Given the description of an element on the screen output the (x, y) to click on. 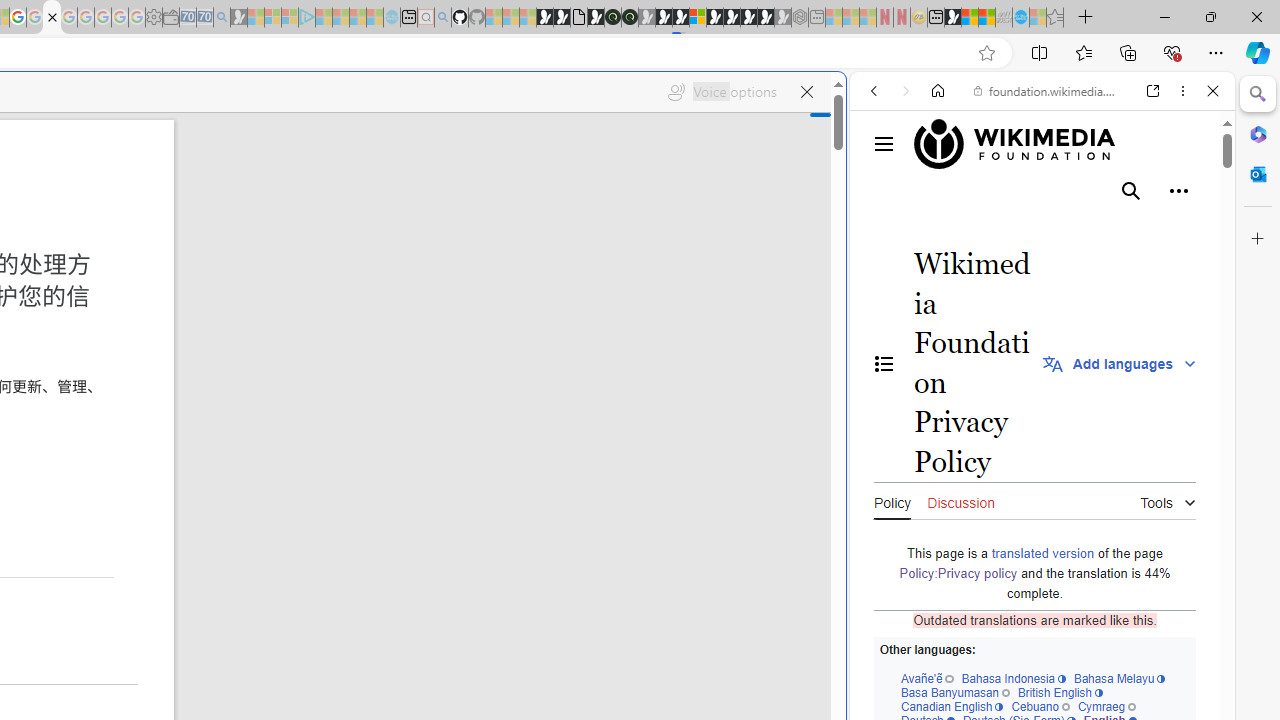
Close read aloud (805, 92)
Basa Banyumasan (954, 691)
Future Focus Report 2024 (629, 17)
Bahasa Melayu (1119, 678)
